Given the description of an element on the screen output the (x, y) to click on. 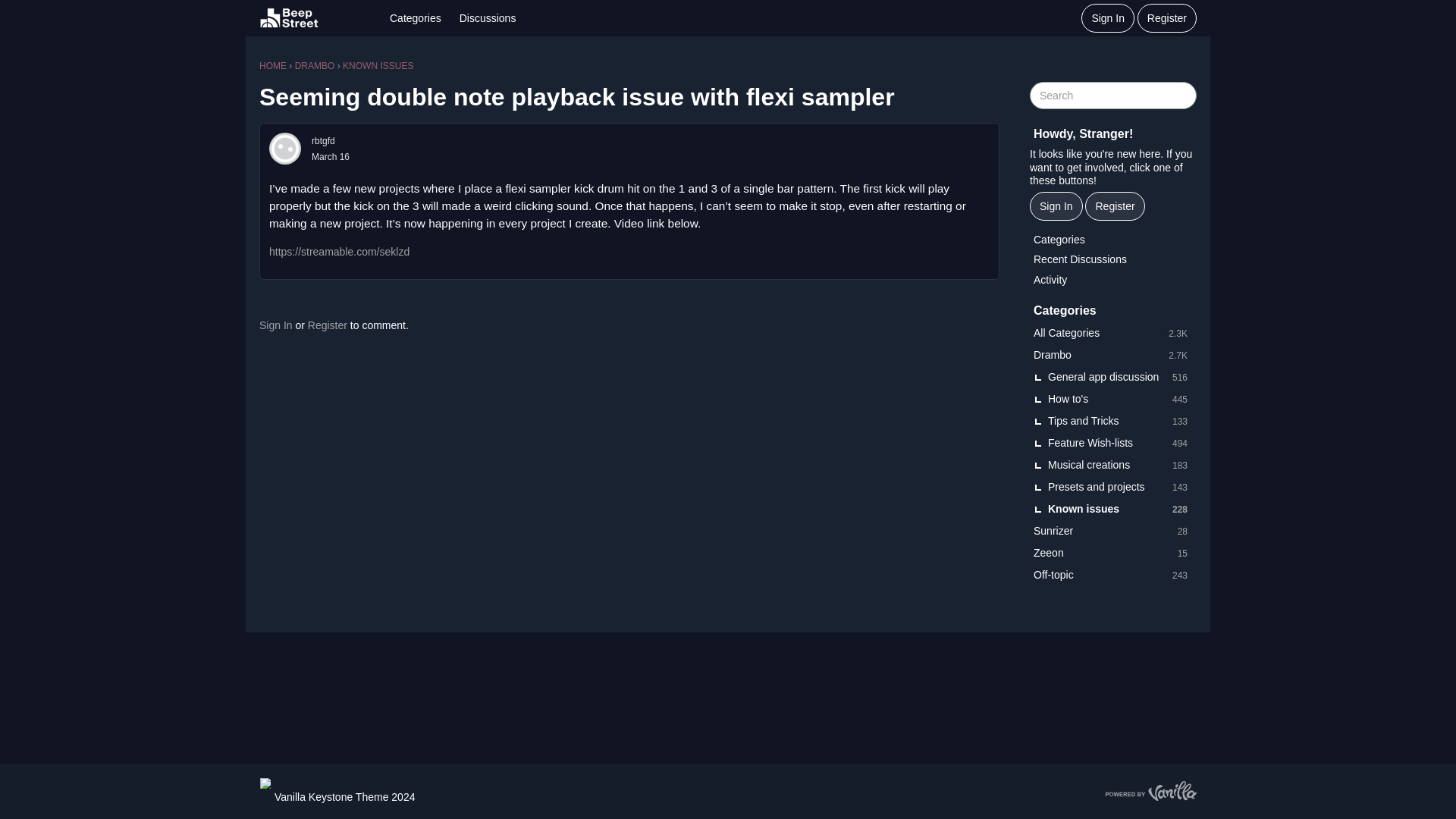
Activity (1112, 421)
Register (1112, 280)
183 discussions (327, 325)
445 discussions (1180, 465)
2,298 discussions (1180, 399)
Discussions (1178, 333)
DRAMBO (487, 17)
rbtgfd (314, 65)
Sign In (1112, 399)
Go (1112, 333)
133 discussions (322, 141)
